Given the description of an element on the screen output the (x, y) to click on. 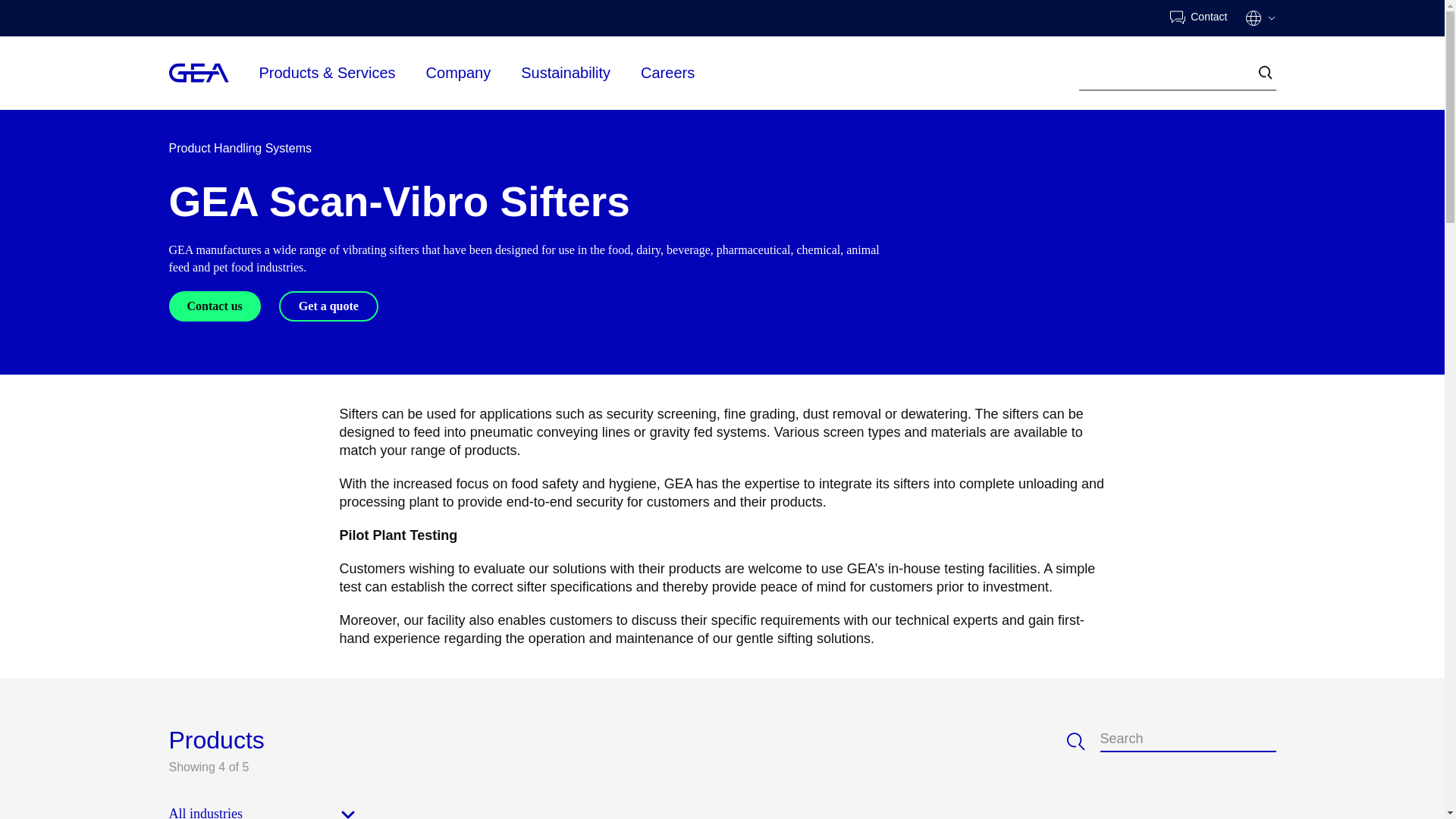
Sustainability (565, 72)
Contact (1198, 17)
Company (459, 72)
Company (459, 71)
Careers (667, 72)
Sustainability (565, 71)
Careers (667, 71)
Contact GEA (1198, 17)
